Given the description of an element on the screen output the (x, y) to click on. 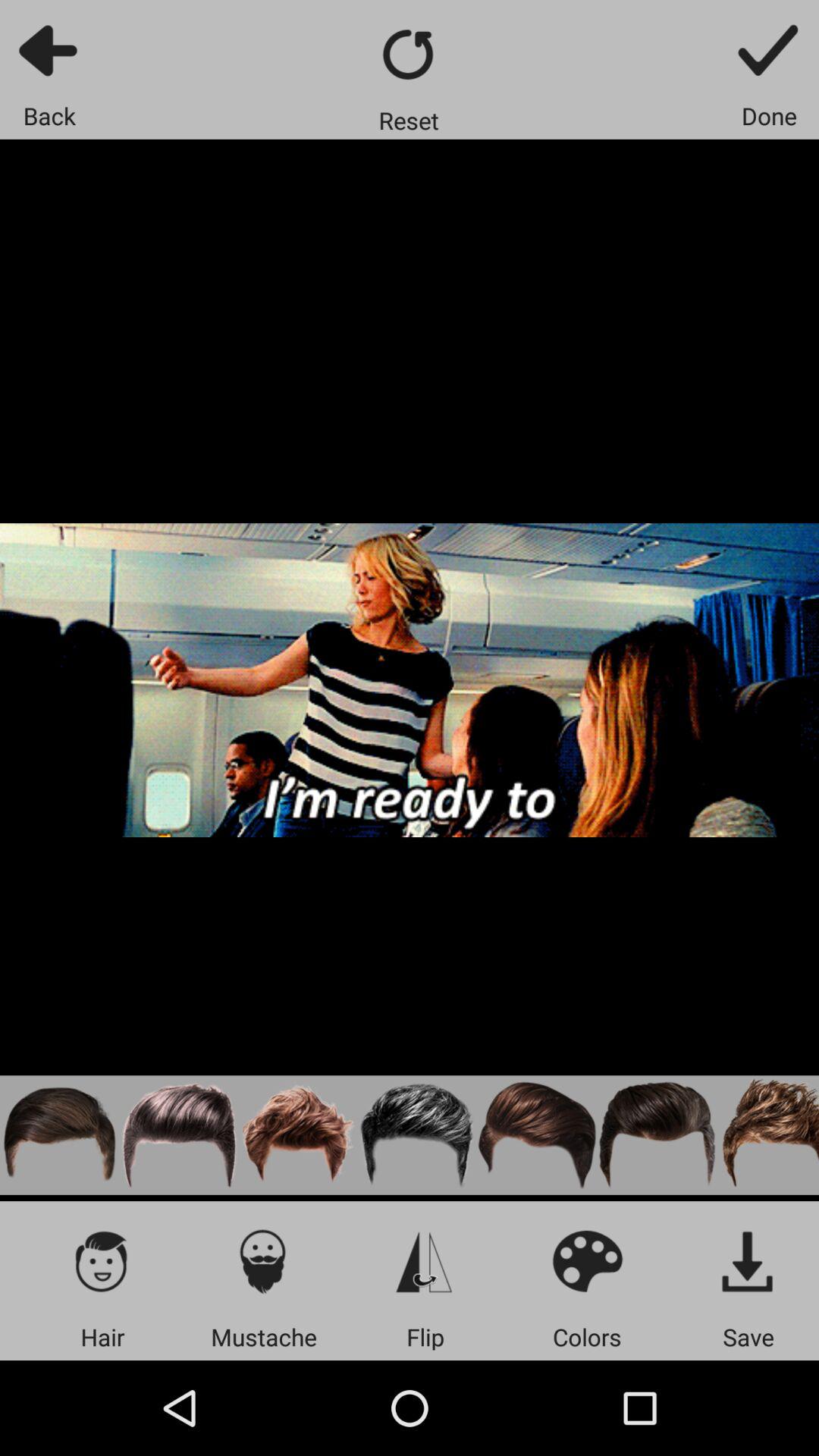
add animal in photo (767, 1134)
